Given the description of an element on the screen output the (x, y) to click on. 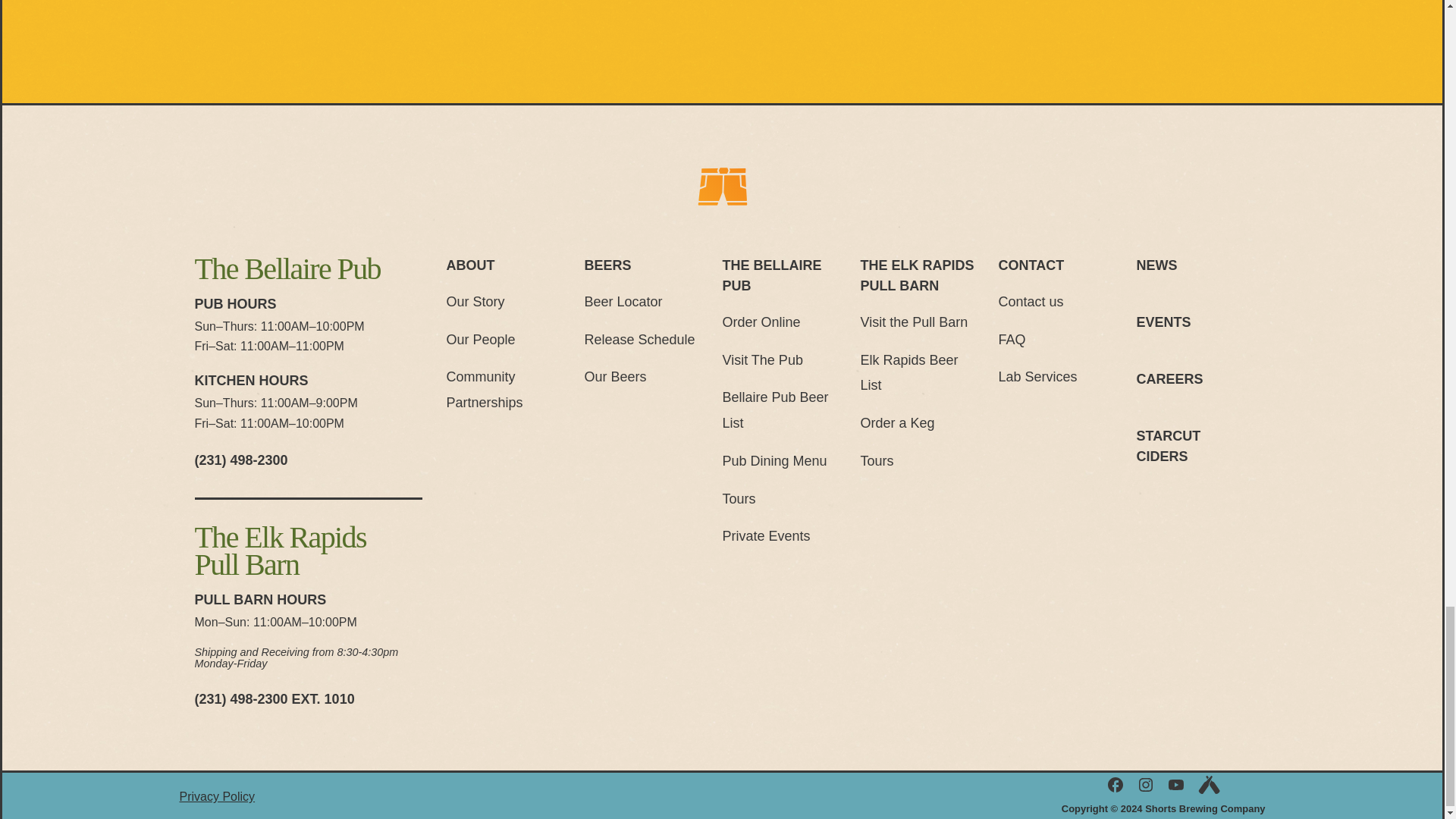
Facebook (1115, 784)
Untappd (1208, 784)
Instagram (1145, 784)
Youtube (1176, 784)
